Given the description of an element on the screen output the (x, y) to click on. 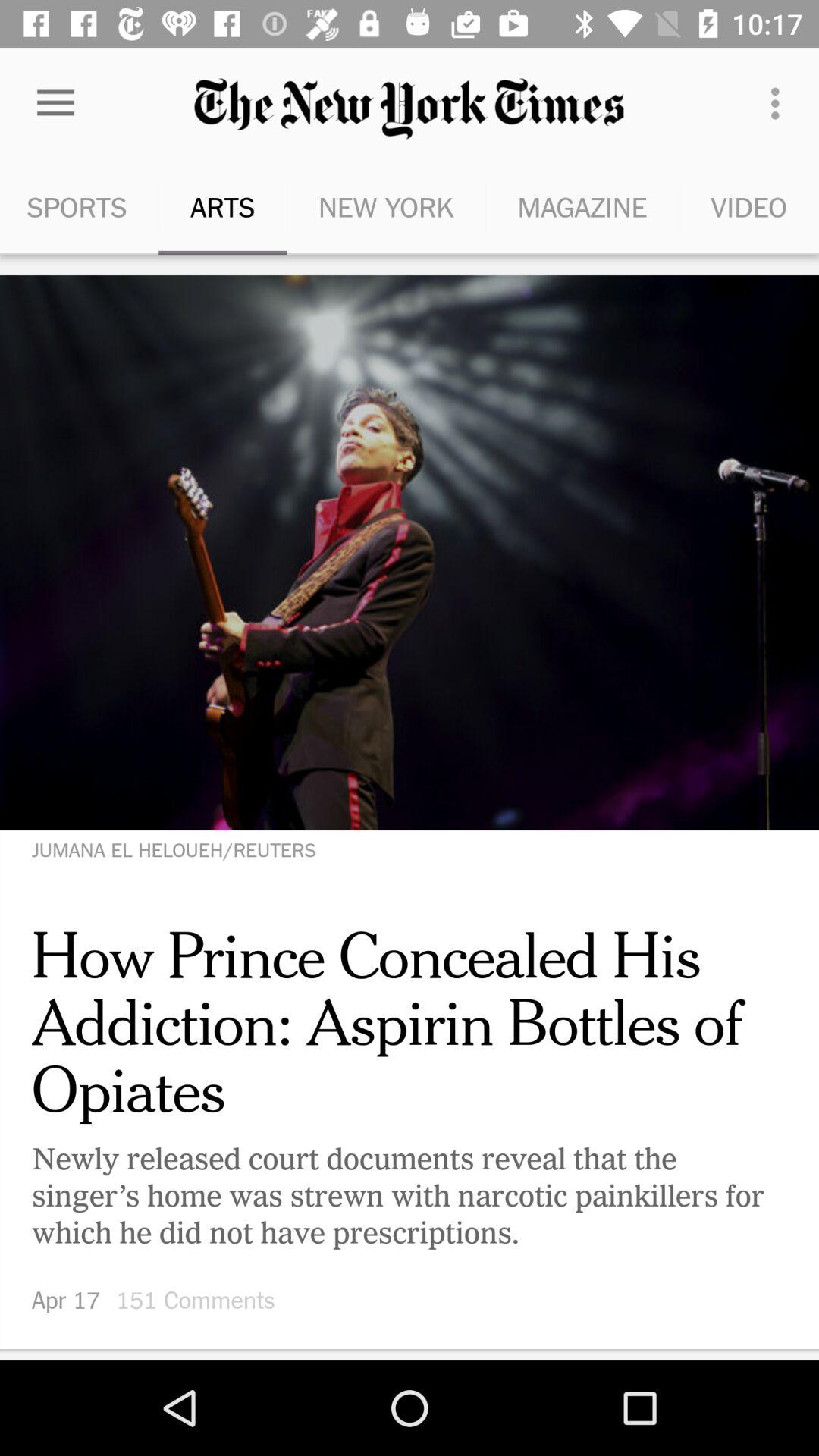
choose icon next to new york icon (582, 206)
